Given the description of an element on the screen output the (x, y) to click on. 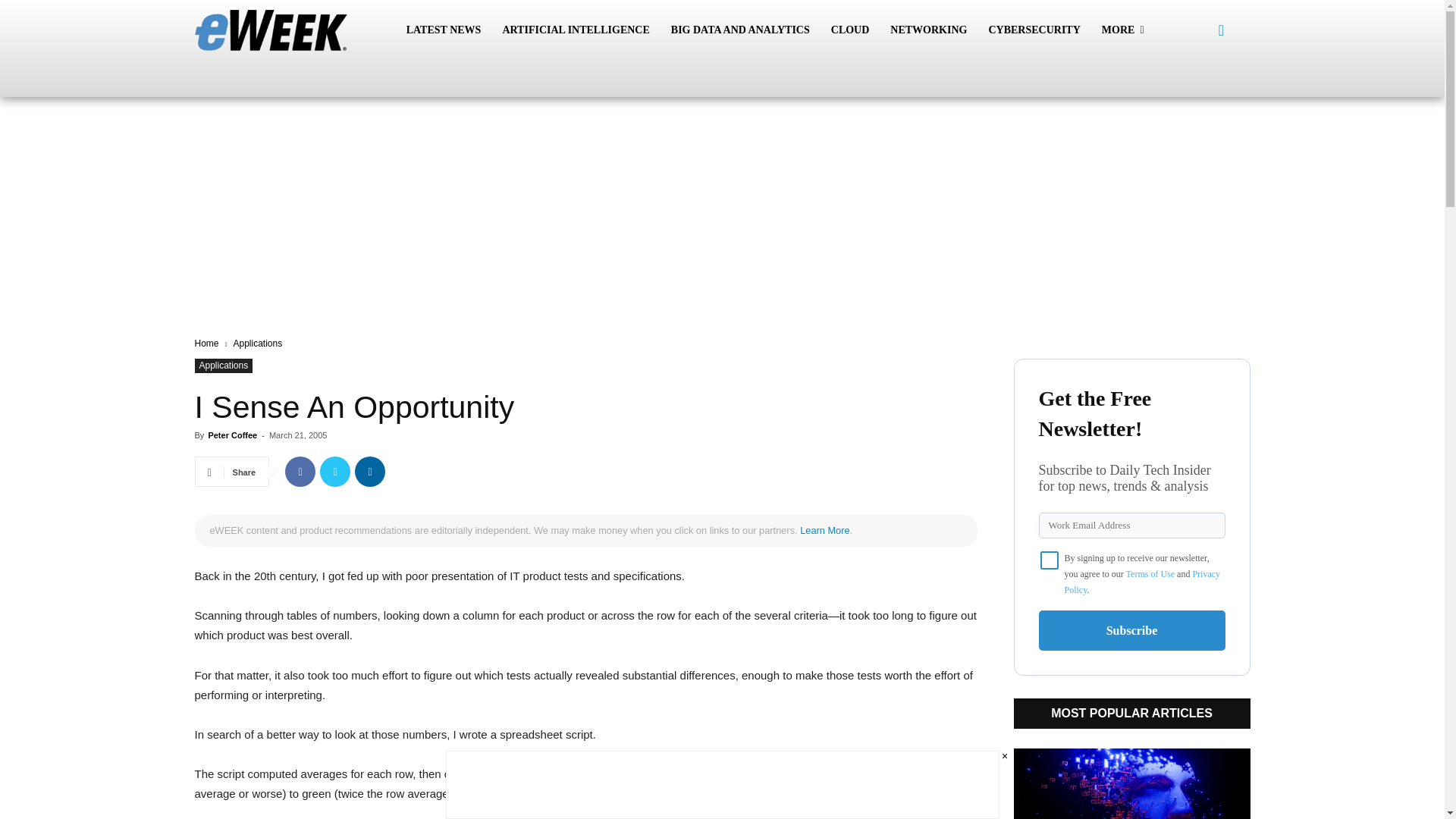
Facebook (300, 471)
ARTIFICIAL INTELLIGENCE (575, 30)
NETWORKING (927, 30)
on (1049, 560)
Linkedin (370, 471)
LATEST NEWS (444, 30)
BIG DATA AND ANALYTICS (741, 30)
CLOUD (850, 30)
Twitter (335, 471)
CYBERSECURITY (1033, 30)
